Given the description of an element on the screen output the (x, y) to click on. 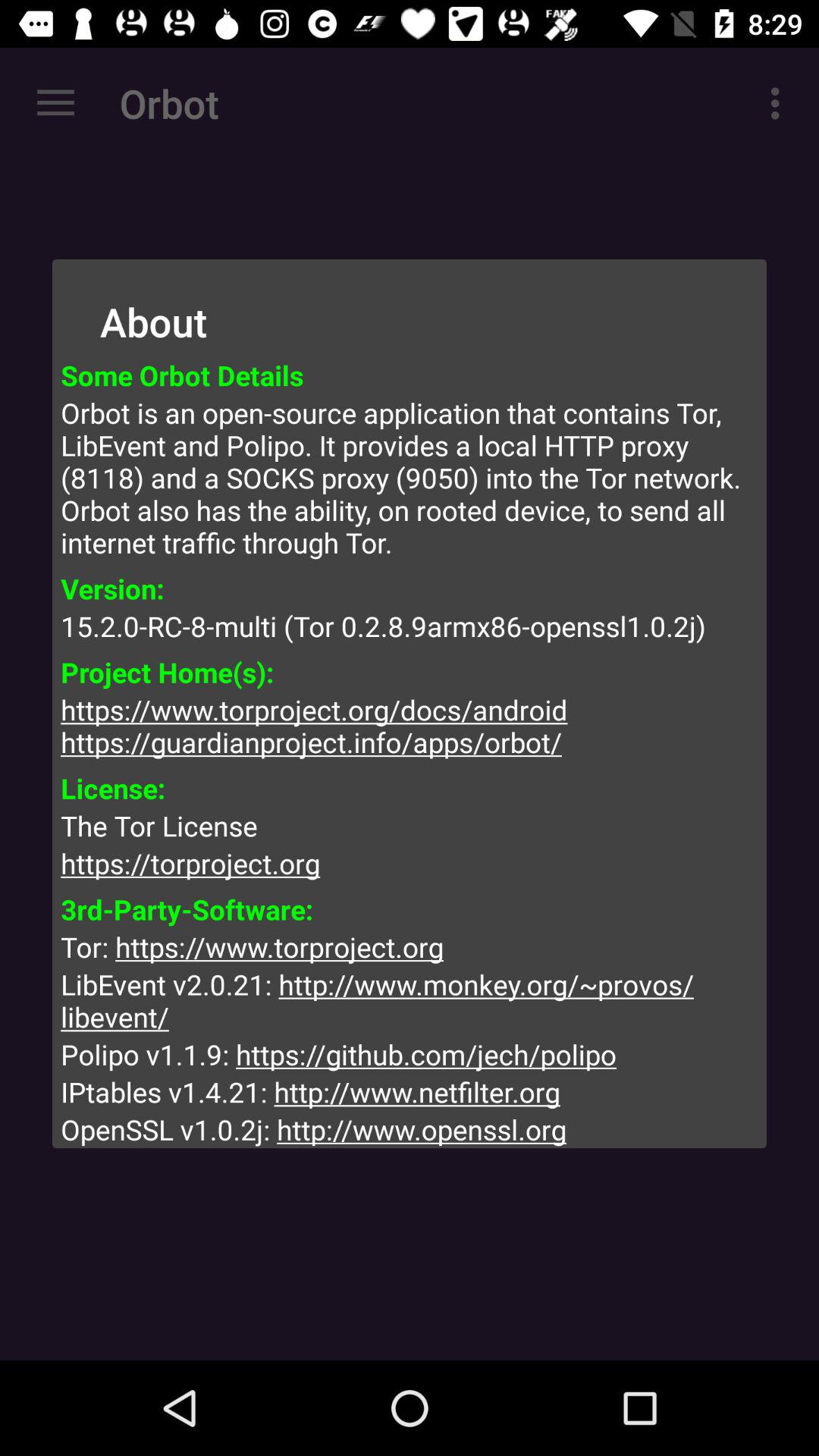
scroll until the iptables v1 4 item (409, 1091)
